Given the description of an element on the screen output the (x, y) to click on. 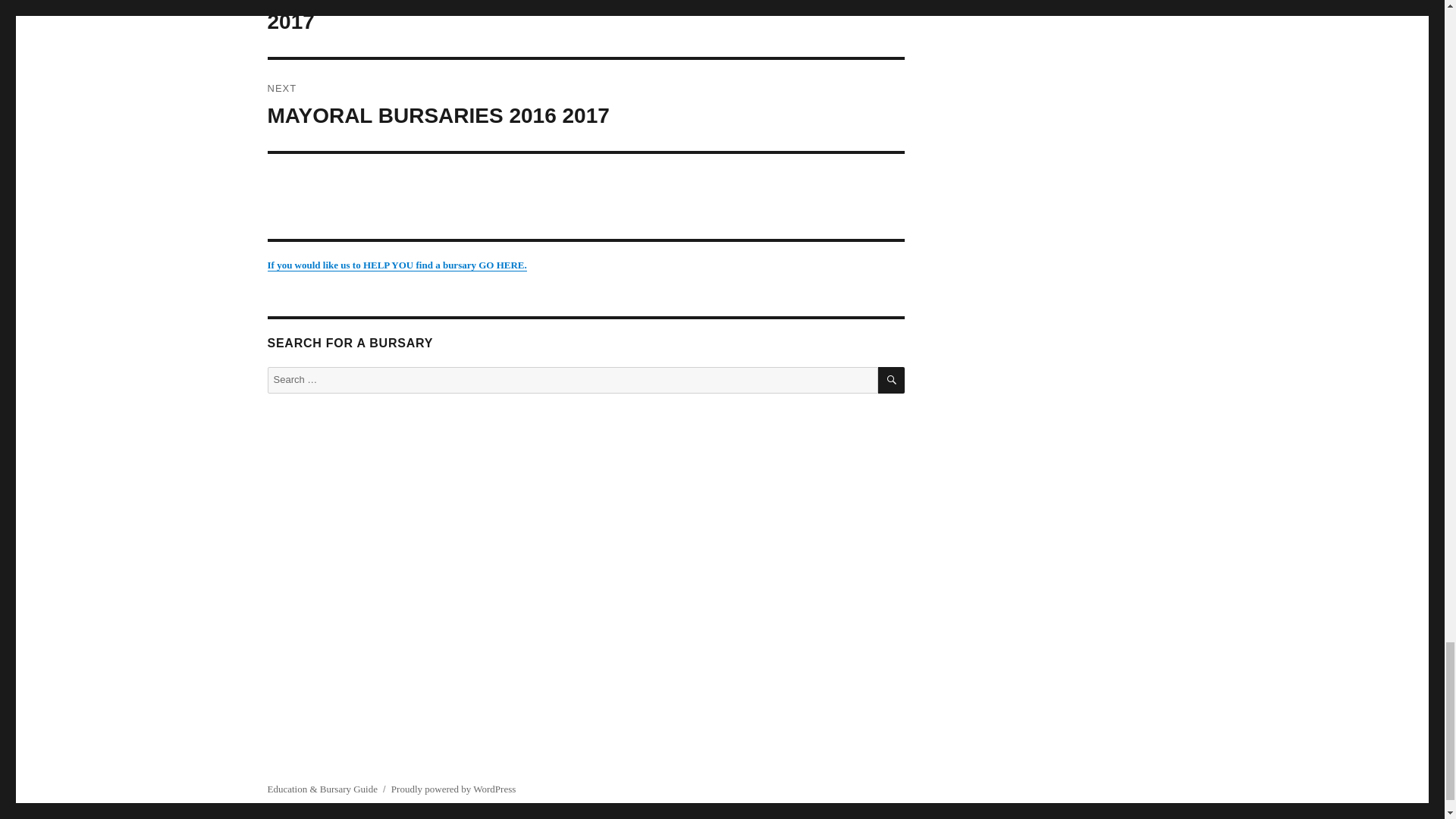
SEARCH (890, 379)
Proudly powered by WordPress (453, 788)
If you would like us to HELP YOU find a bursary GO HERE. (395, 265)
